Given the description of an element on the screen output the (x, y) to click on. 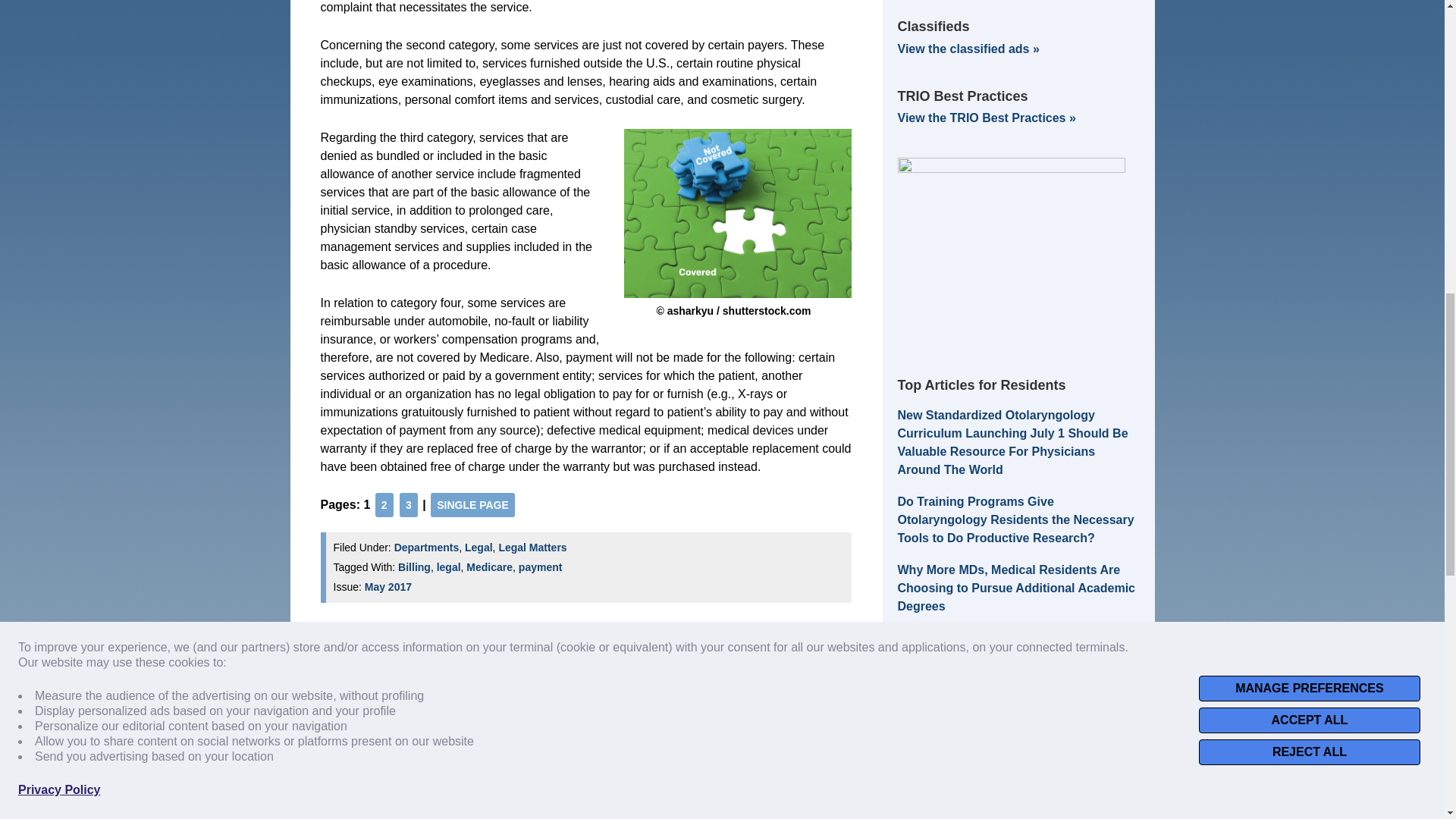
New Medicare Audiology Billing Takes Effect (569, 684)
How to Bill for Unlisted Codes in Medical Billing (673, 684)
Medicare Physician Payment Cut Averted (468, 684)
